Given the description of an element on the screen output the (x, y) to click on. 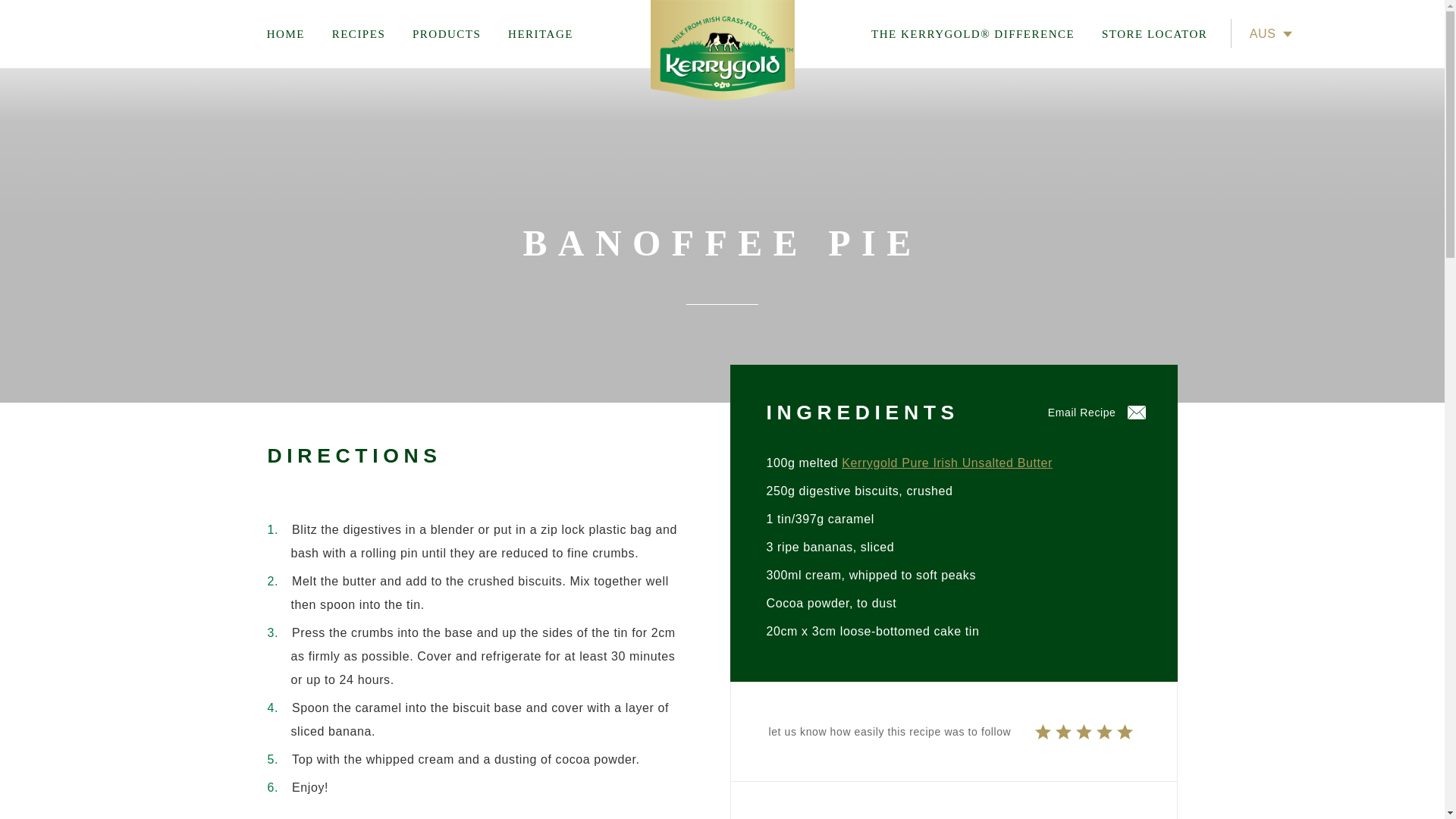
email (1097, 412)
HOME (291, 33)
STORE LOCATOR (1155, 33)
Kerrygold (721, 49)
AUS (1259, 47)
PRODUCTS (447, 33)
RECIPES (358, 33)
HERITAGE (540, 33)
